Given the description of an element on the screen output the (x, y) to click on. 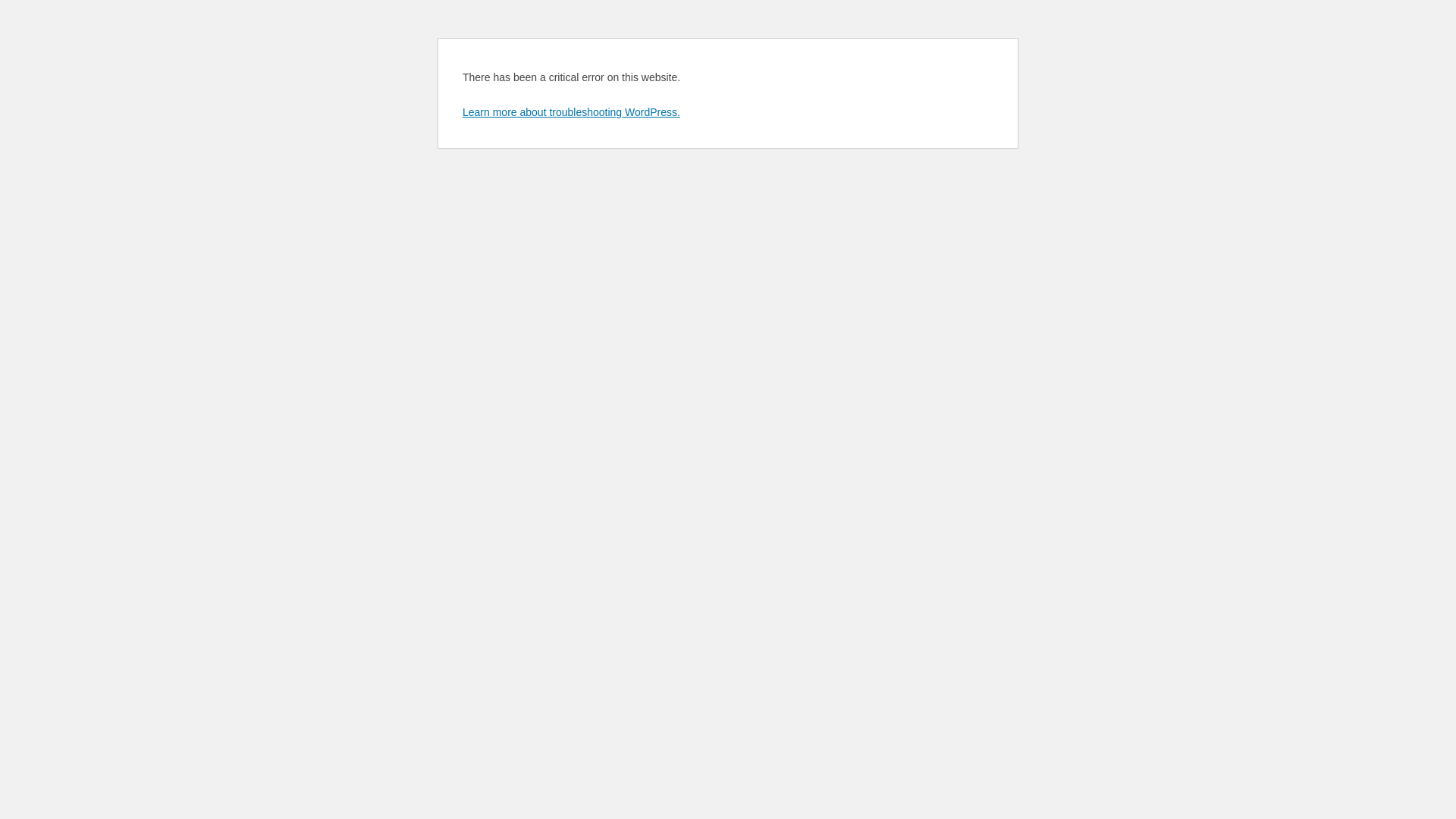
Learn more about troubleshooting WordPress. Element type: text (571, 112)
